Given the description of an element on the screen output the (x, y) to click on. 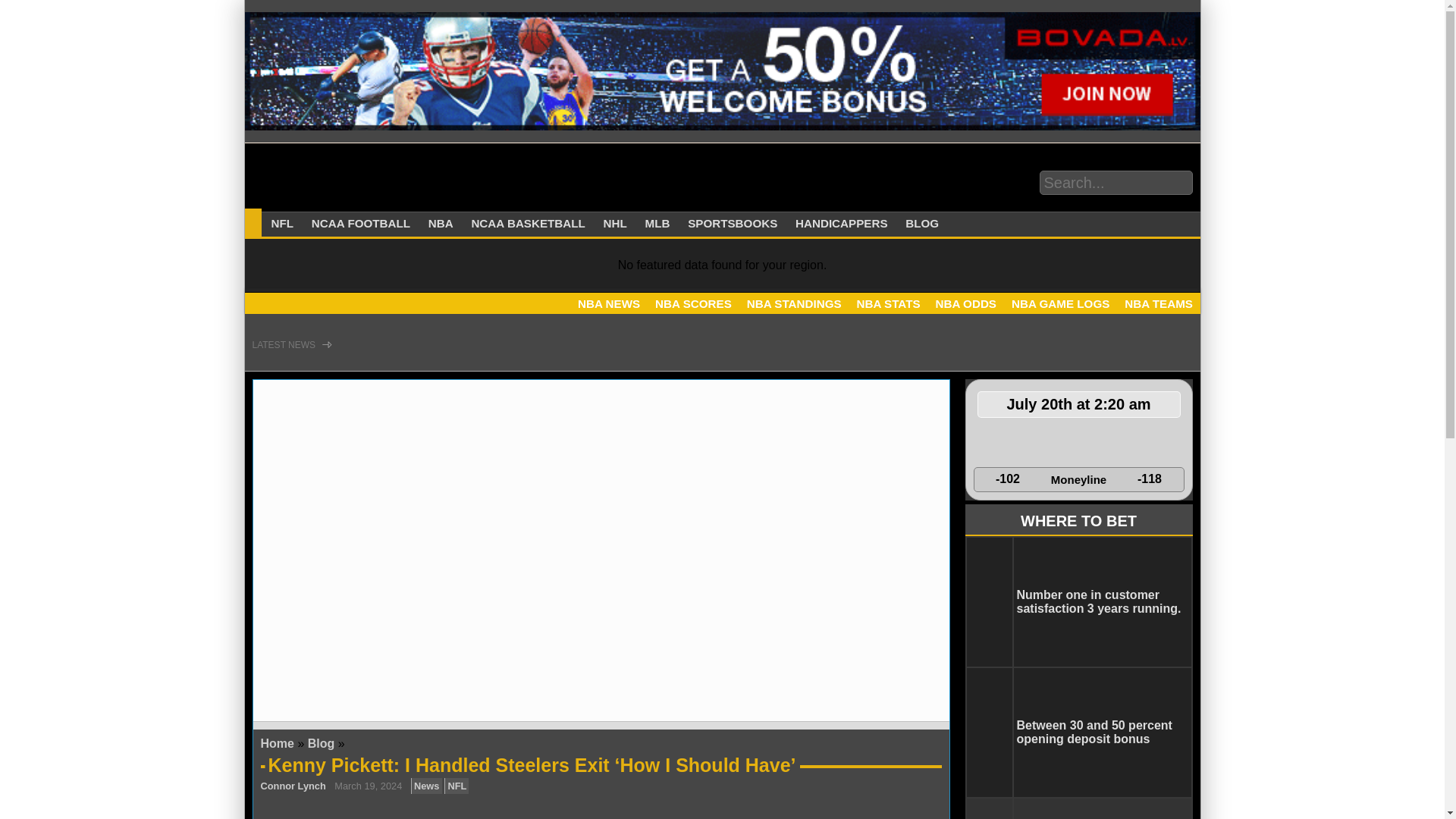
Chicago Cubs (1087, 442)
